Given the description of an element on the screen output the (x, y) to click on. 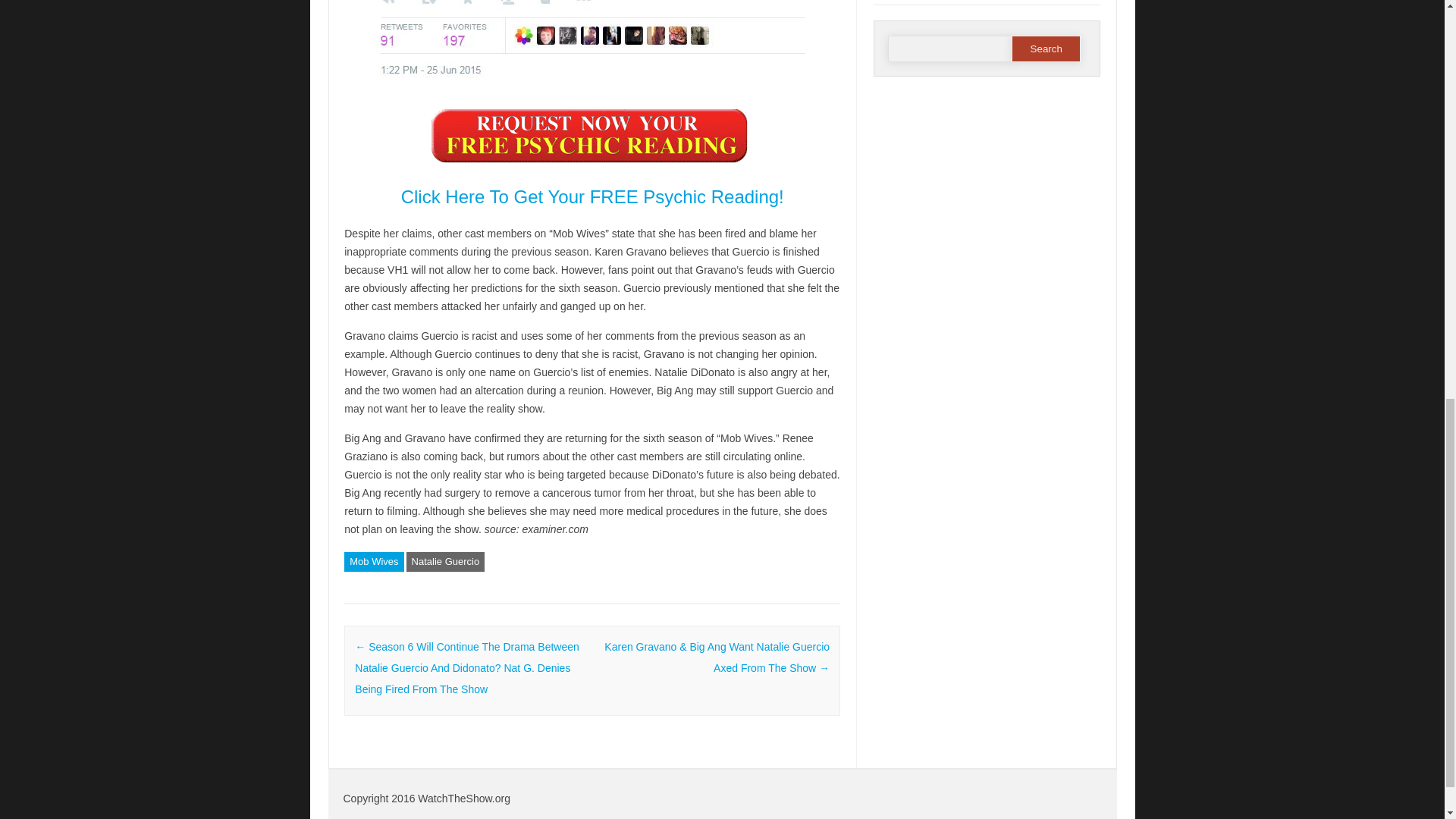
Click Here To Get Your FREE Psychic Reading! (592, 196)
Search (1045, 49)
Natalie Guercio (445, 561)
Mob Wives (373, 561)
Search (1045, 49)
